Given the description of an element on the screen output the (x, y) to click on. 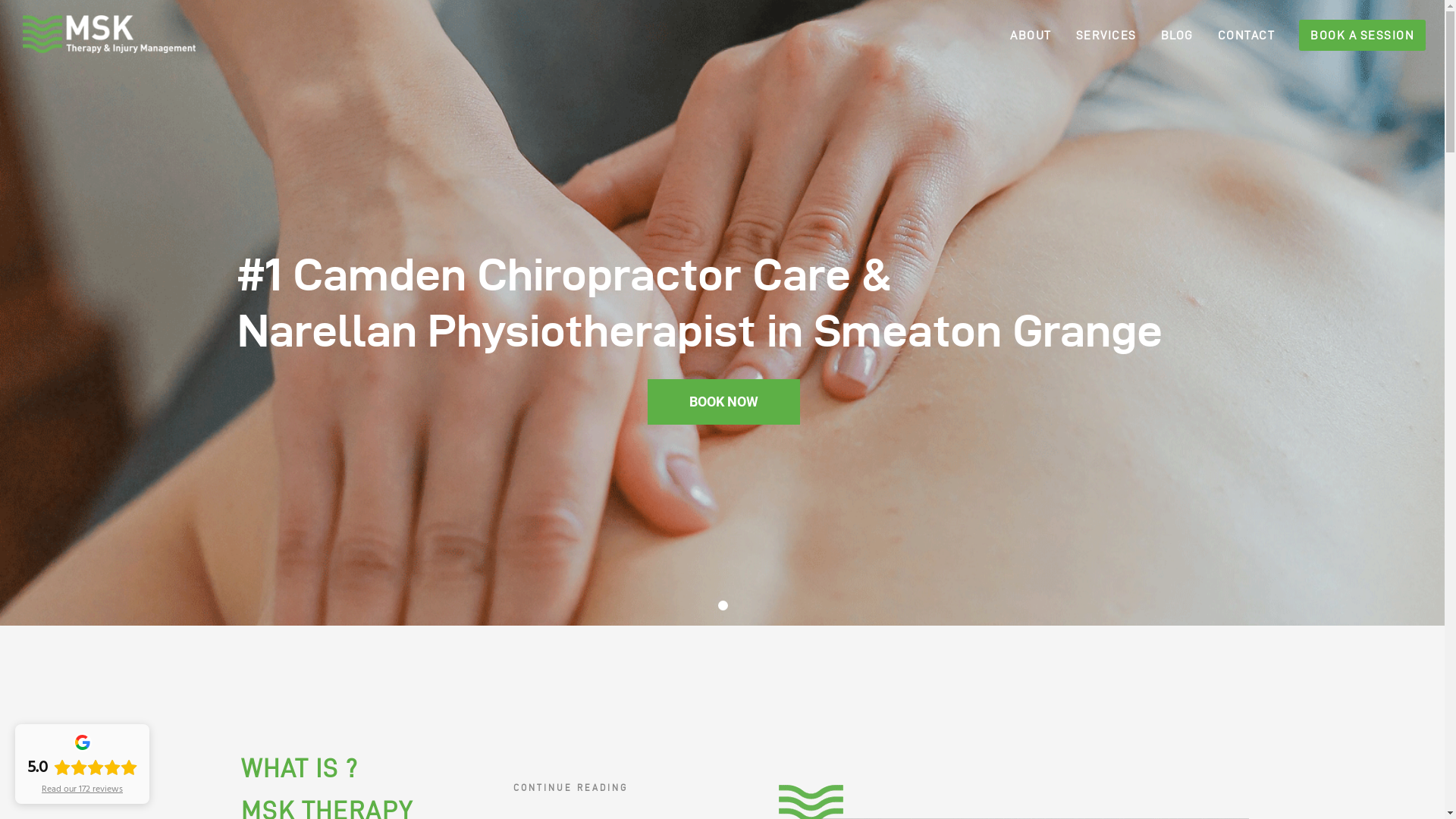
CONTINUE READING Element type: text (570, 791)
CONTACT Element type: text (1234, 34)
ABOUT Element type: text (1018, 34)
BLOG Element type: text (1163, 34)
BOOK A SESSION Element type: text (1349, 34)
SERVICES Element type: text (1093, 34)
